Given the description of an element on the screen output the (x, y) to click on. 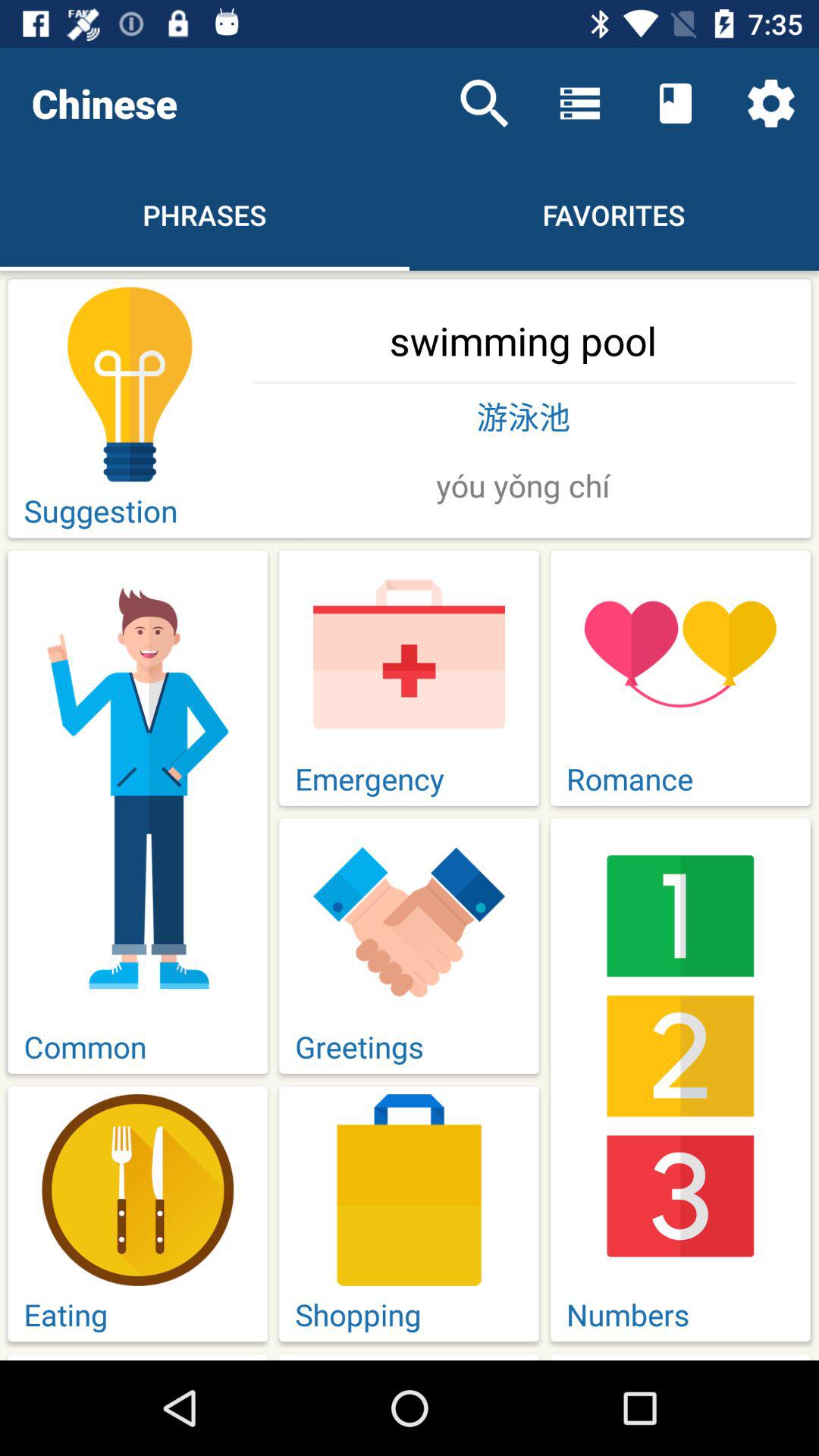
open the icon above the swimming pool icon (771, 103)
